Given the description of an element on the screen output the (x, y) to click on. 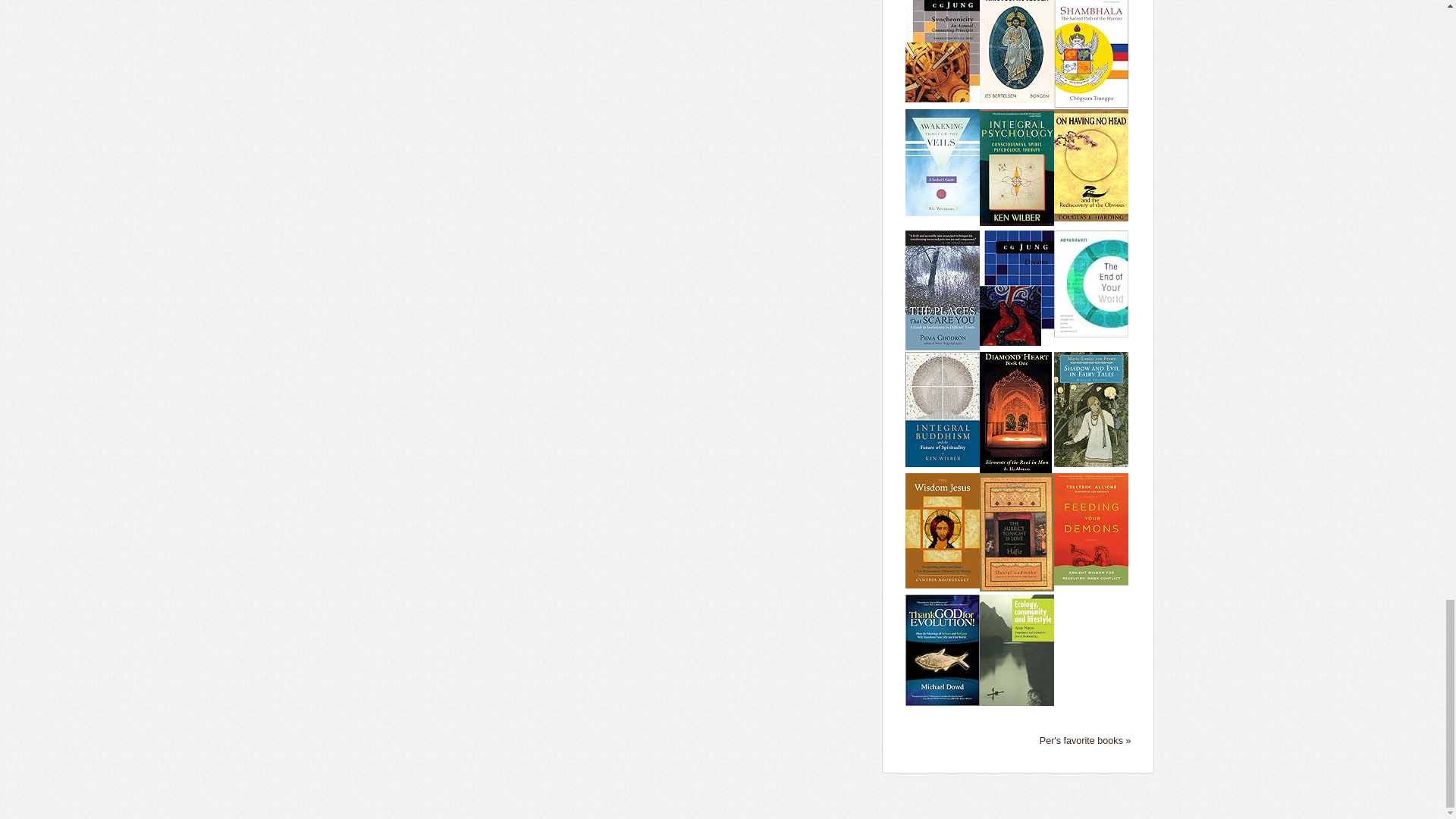
Shambhala: The Sacred Path of the Warrior (1091, 46)
Kristusprocessen (1016, 43)
On Having No Head: Zen and the Rediscovery of the Obvious (1091, 163)
Synchronicity: An Acausal Connecting Principle (942, 43)
Awakening Through the Veils: A Seeker's Guide (942, 161)
